Given the description of an element on the screen output the (x, y) to click on. 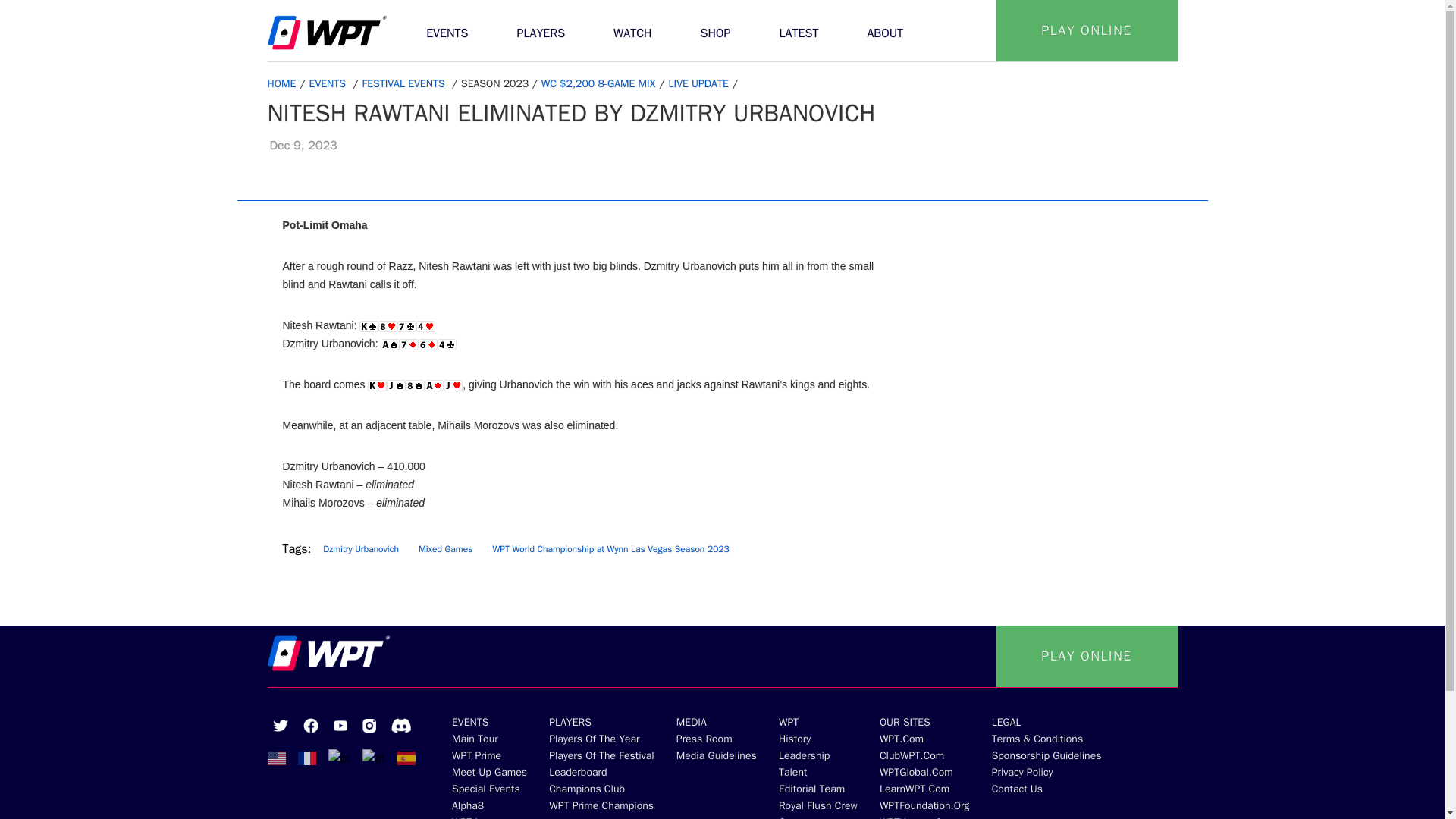
Diamond 7 (408, 344)
PLAYERS (540, 30)
WPT World Championship at Wynn Las Vegas Season 2023 (610, 548)
Club 7 (406, 326)
Club 4 (447, 344)
HOME (282, 83)
SHOP (716, 30)
LATEST (799, 30)
Spade A (389, 344)
FESTIVAL EVENTS (406, 83)
WATCH (633, 30)
ABOUT (885, 30)
Heart K (377, 385)
Heart J (453, 385)
Instagram (368, 725)
